Given the description of an element on the screen output the (x, y) to click on. 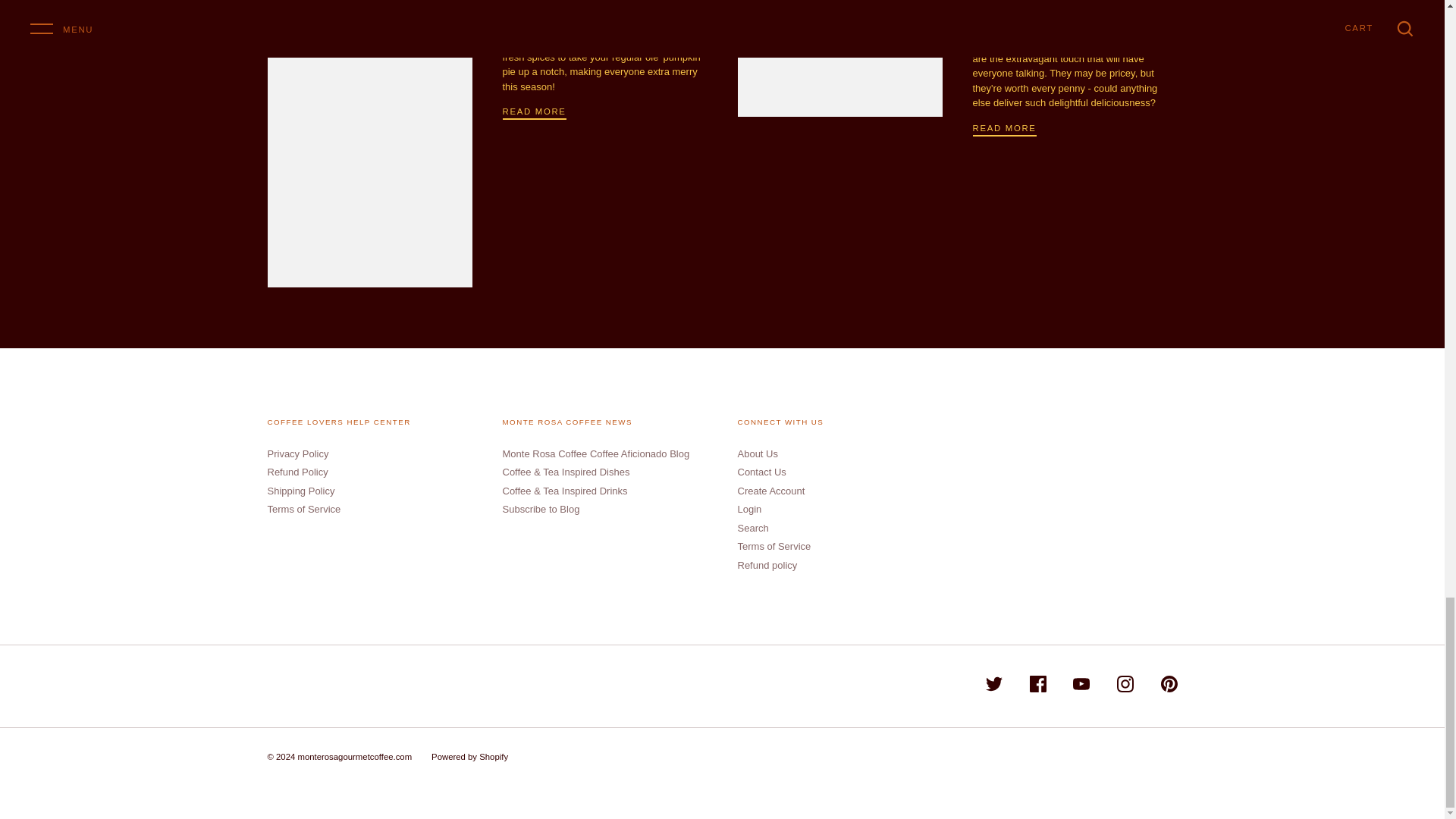
Twitter (994, 683)
Facebook (1037, 683)
Pinterest (1168, 683)
Youtube (1081, 683)
Instagram (1125, 683)
